Given the description of an element on the screen output the (x, y) to click on. 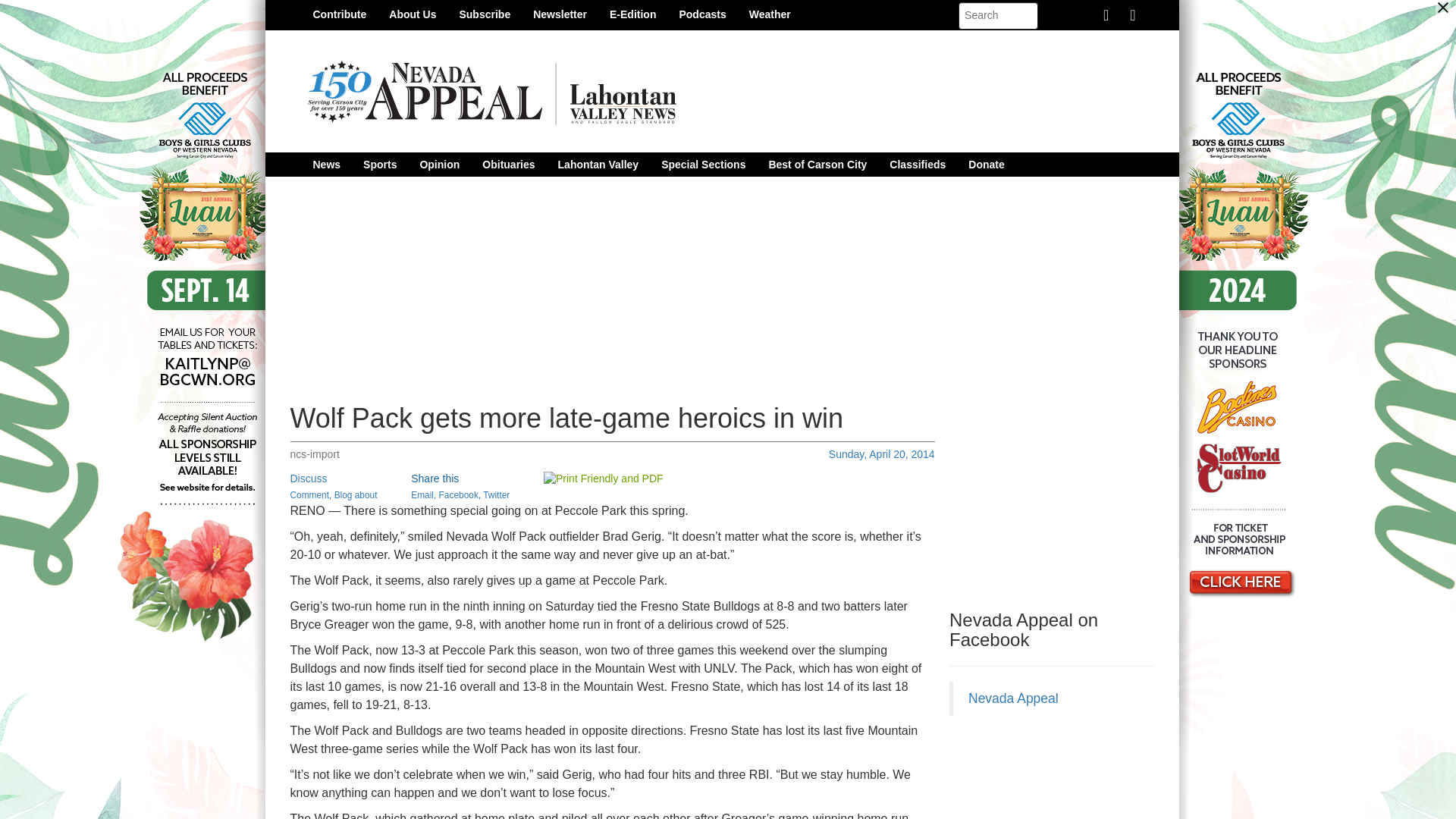
3rd party ad content (1062, 500)
Sports (379, 164)
E-Edition (632, 14)
Contribute (339, 14)
Podcasts (701, 14)
Subscribe (483, 14)
Lahontan Valley (598, 164)
Donate (985, 164)
Opinion (438, 164)
Obituaries (508, 164)
Classifieds (916, 164)
About Us (411, 14)
Sunday, April 20, 2014 (881, 453)
News (326, 164)
